Given the description of an element on the screen output the (x, y) to click on. 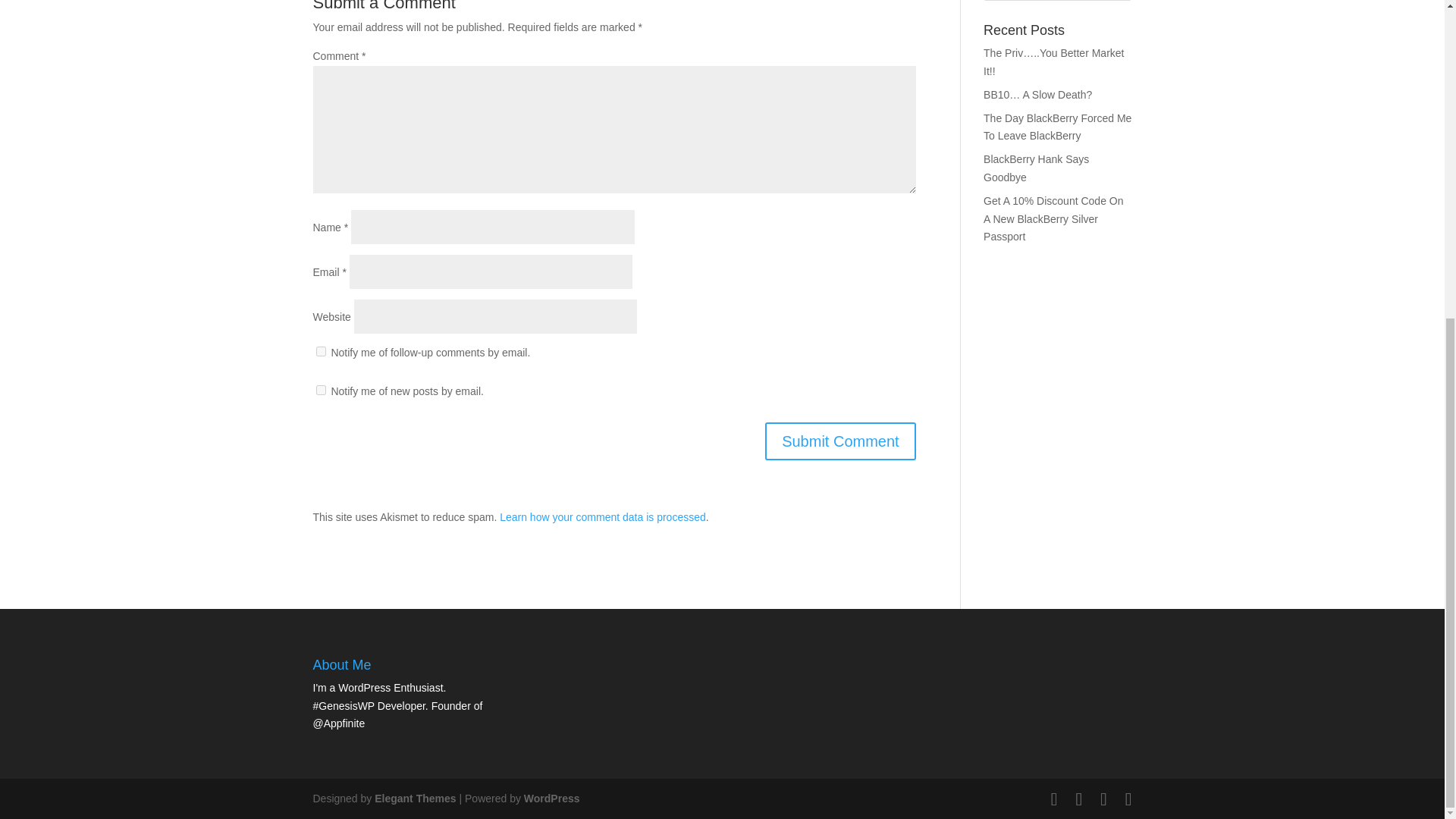
subscribe (319, 389)
Elegant Themes (414, 798)
The Day BlackBerry Forced Me To Leave BlackBerry (1057, 127)
Learn how your comment data is processed (602, 517)
BlackBerry Hank Says Goodbye (1036, 168)
Search (1106, 0)
subscribe (319, 351)
Search (1106, 0)
Premium WordPress Themes (414, 798)
Submit Comment (840, 441)
